Given the description of an element on the screen output the (x, y) to click on. 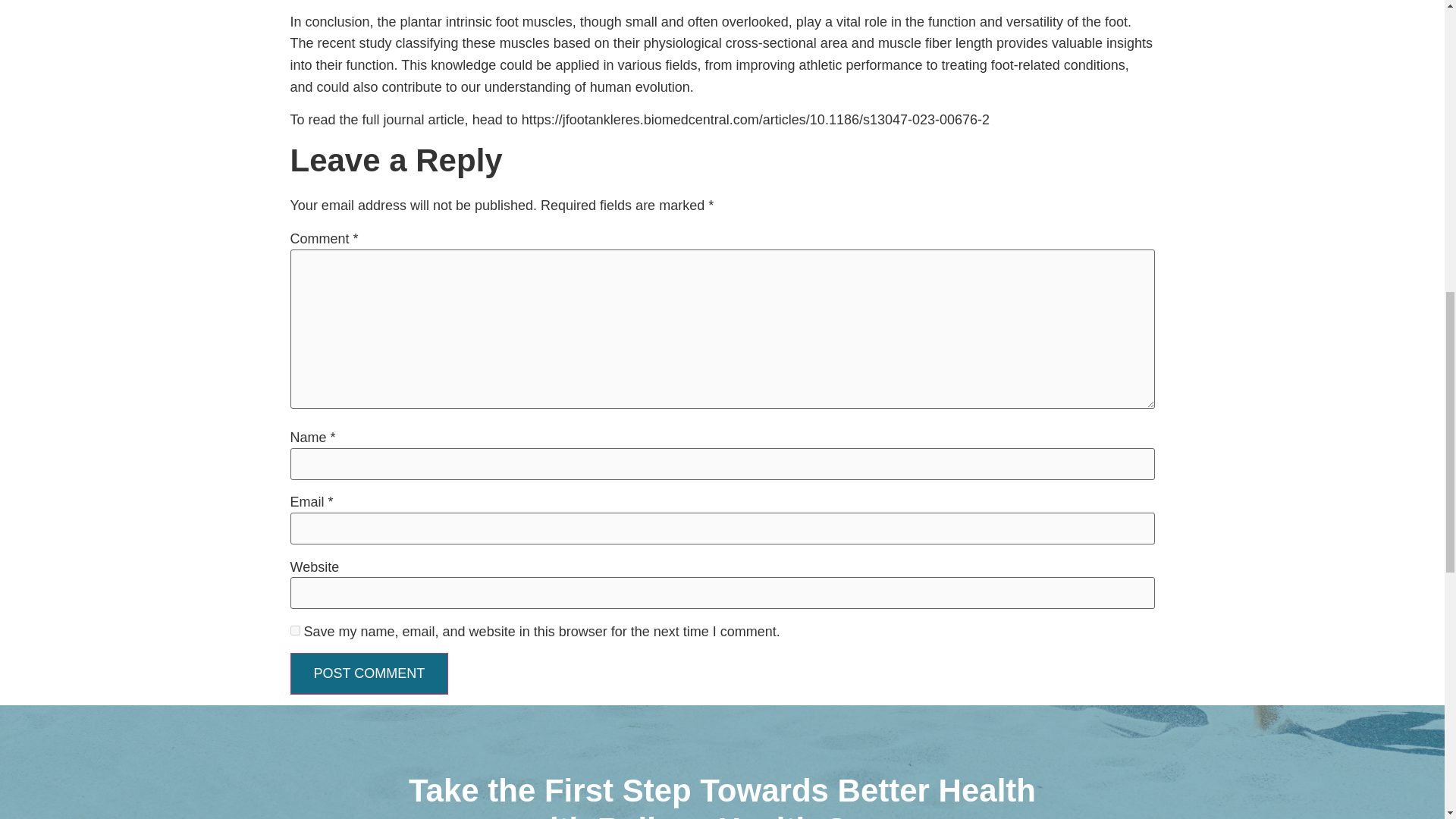
Post Comment (368, 673)
yes (294, 630)
Post Comment (368, 673)
